Given the description of an element on the screen output the (x, y) to click on. 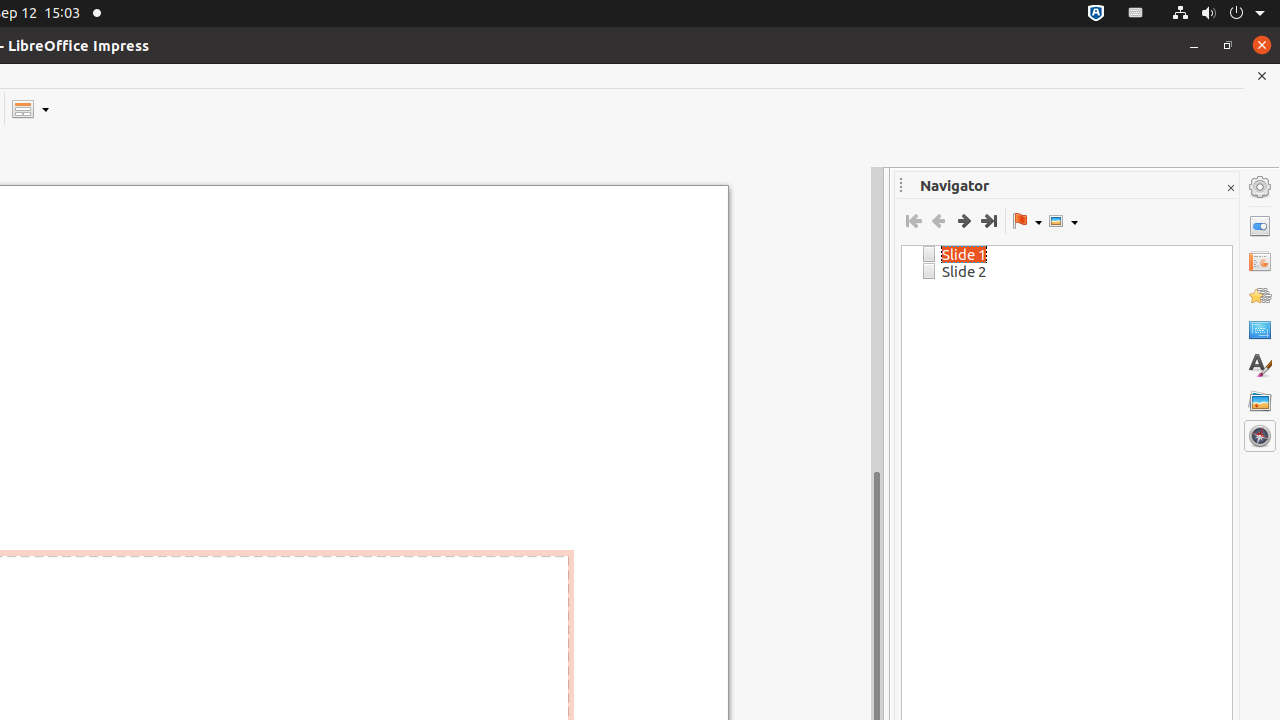
Drag Mode Element type: push-button (1027, 221)
Next Slide Element type: push-button (963, 221)
:1.21/StatusNotifierItem Element type: menu (1136, 13)
Gallery Element type: radio-button (1260, 401)
